Given the description of an element on the screen output the (x, y) to click on. 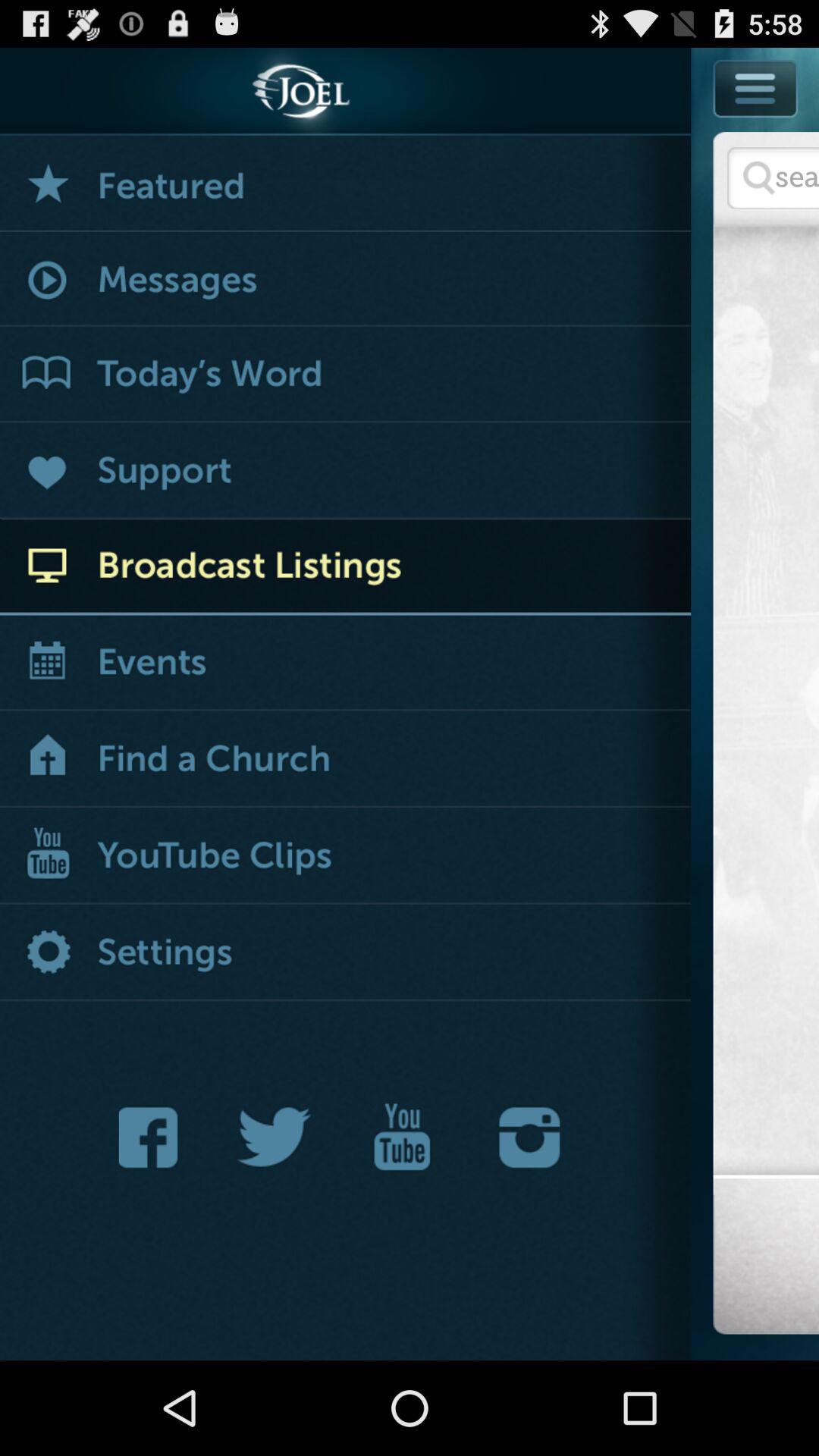
settings option (345, 953)
